Given the description of an element on the screen output the (x, y) to click on. 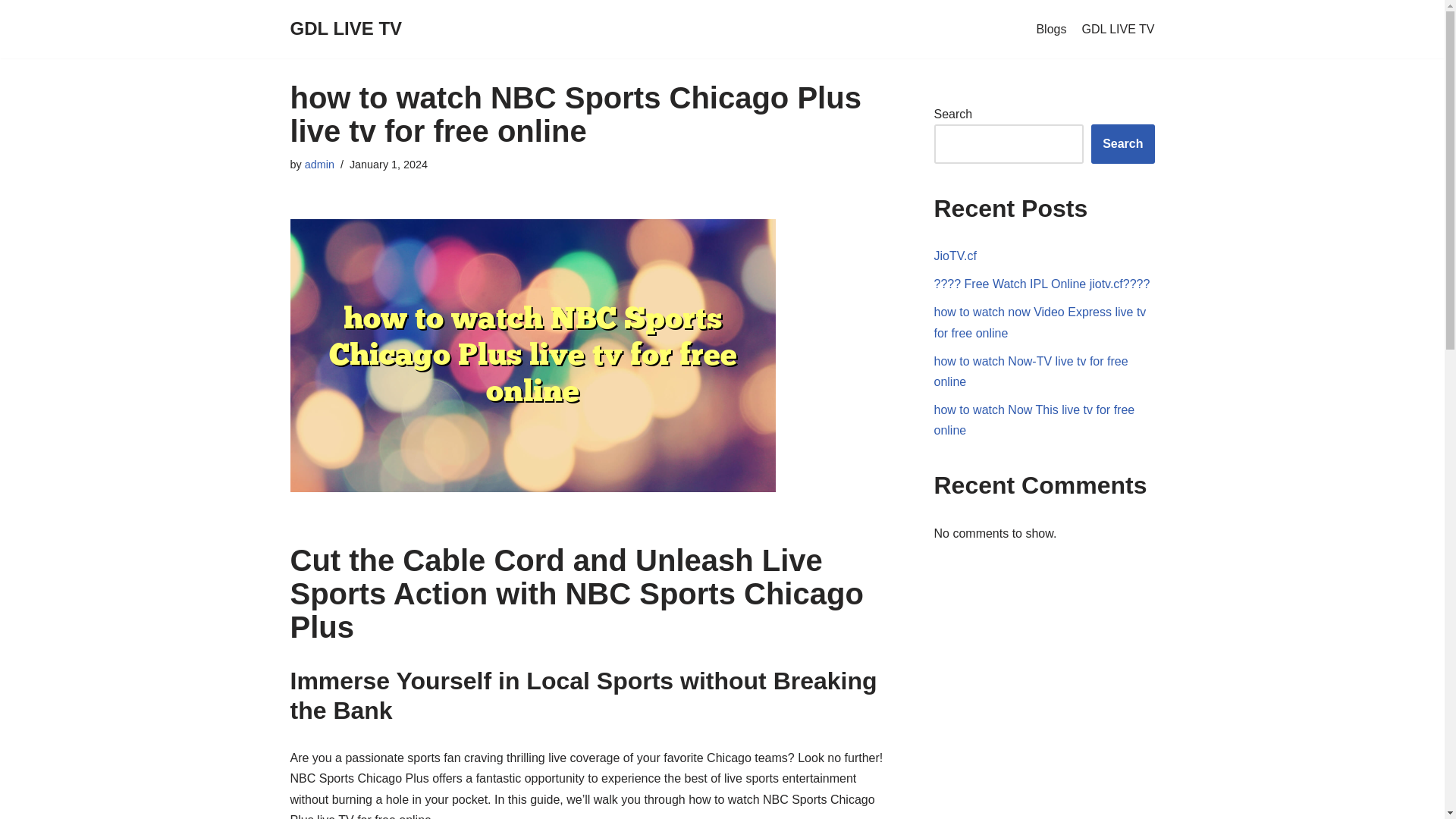
Search (1122, 143)
how to watch Now This live tv for free online (1034, 419)
???? Free Watch IPL Online jiotv.cf???? (1042, 283)
GDL LIVE TV (345, 29)
how to watch now Video Express live tv for free online (1040, 322)
Posts by admin (319, 164)
GDL LIVE TV (1117, 29)
admin (319, 164)
JioTV.cf (955, 255)
Blogs (1050, 29)
